Given the description of an element on the screen output the (x, y) to click on. 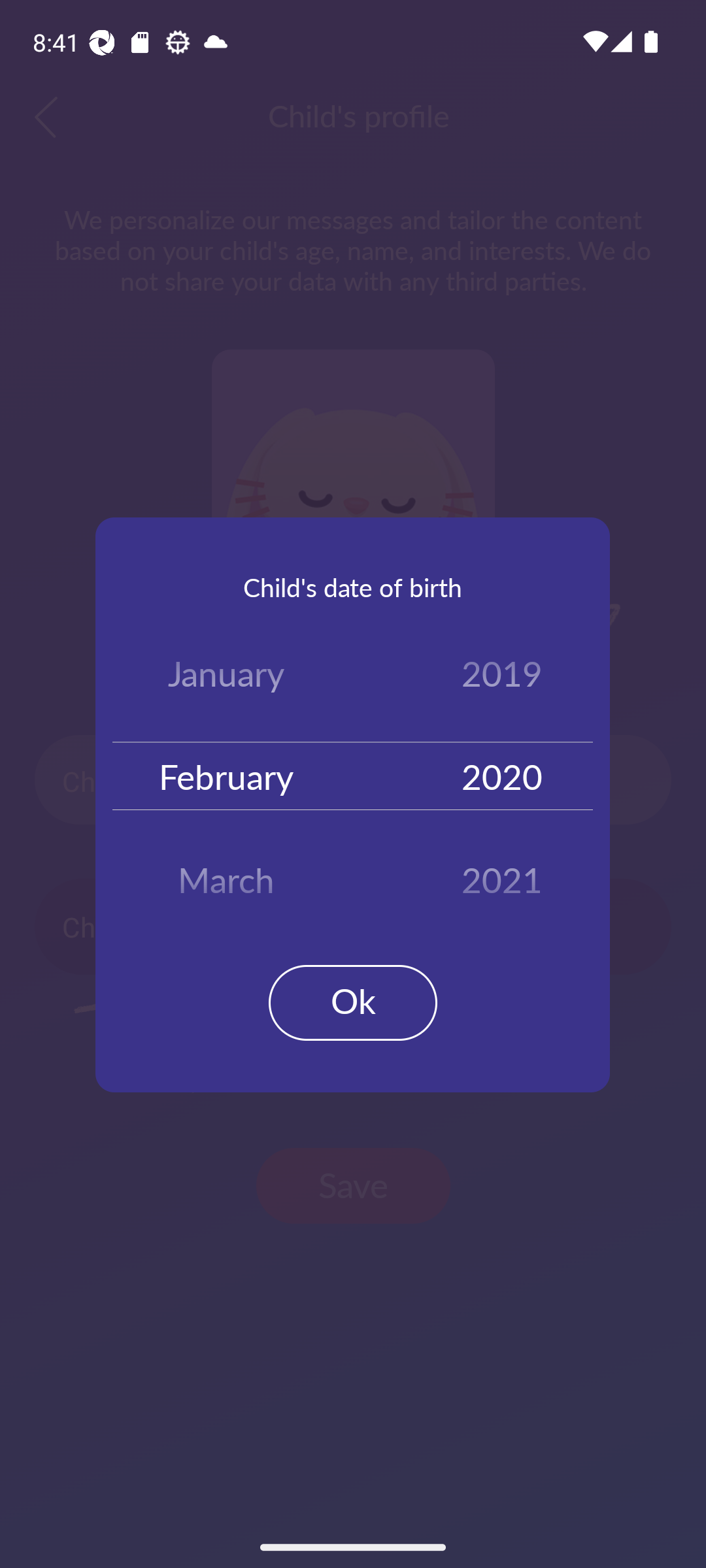
January (226, 676)
2019 (501, 676)
February (226, 774)
2020 (501, 774)
March (226, 872)
2021 (501, 872)
Ok (352, 1002)
